Given the description of an element on the screen output the (x, y) to click on. 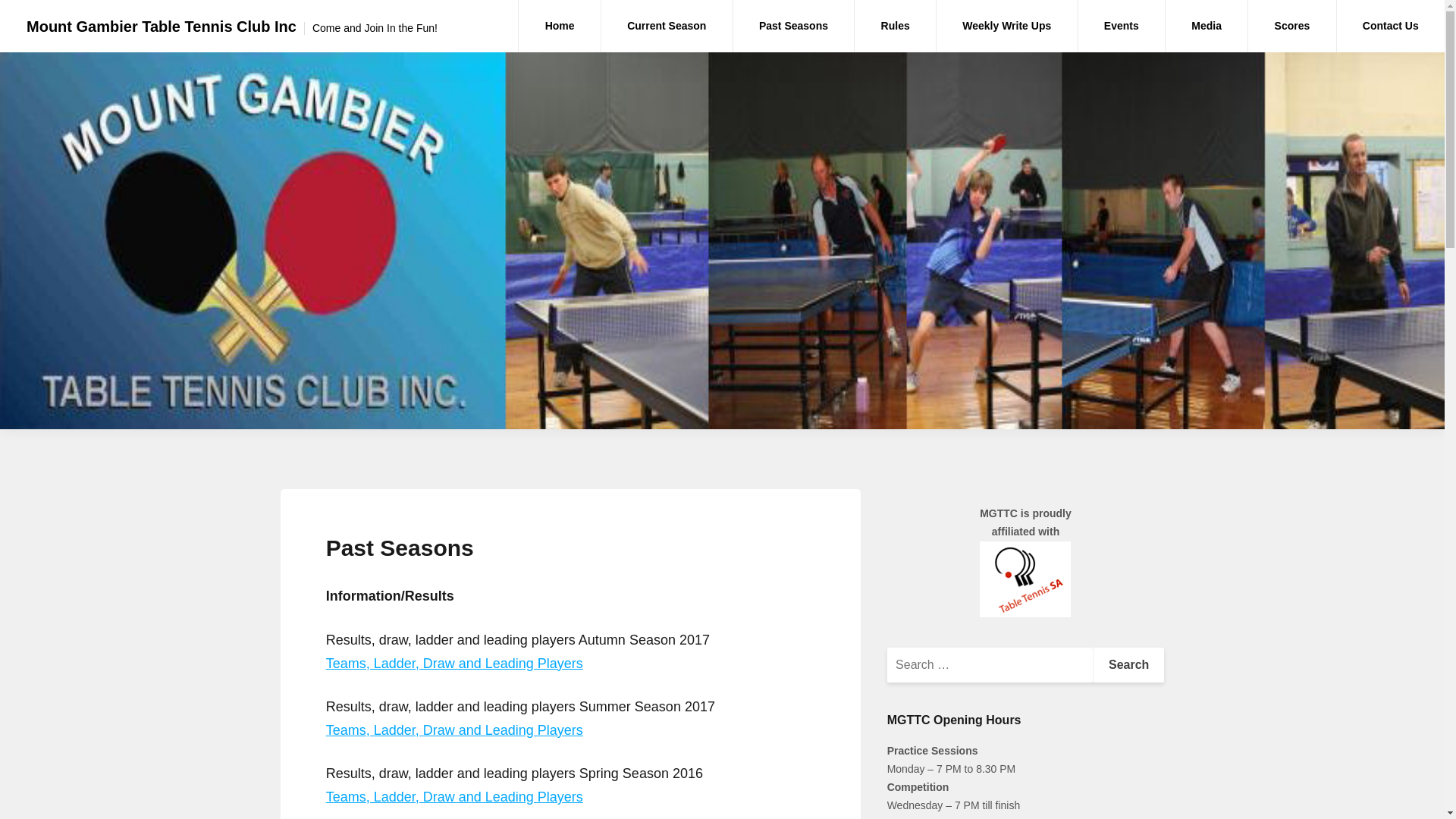
Scores Element type: text (1291, 26)
Teams, Ladder, Draw and Leading Players Element type: text (454, 663)
Mount Gambier Table Tennis Club Inc Element type: text (161, 26)
Events Element type: text (1121, 26)
Rules Element type: text (894, 26)
Search Element type: text (1128, 664)
Home Element type: text (558, 26)
Current Season Element type: text (666, 26)
Past Seasons Element type: text (793, 26)
Media Element type: text (1206, 26)
Teams, Ladder, Draw and Leading Players Element type: text (454, 729)
Weekly Write Ups Element type: text (1006, 26)
Teams, Ladder, Draw and Leading Players Element type: text (454, 796)
Contact Us Element type: text (1390, 26)
